Given the description of an element on the screen output the (x, y) to click on. 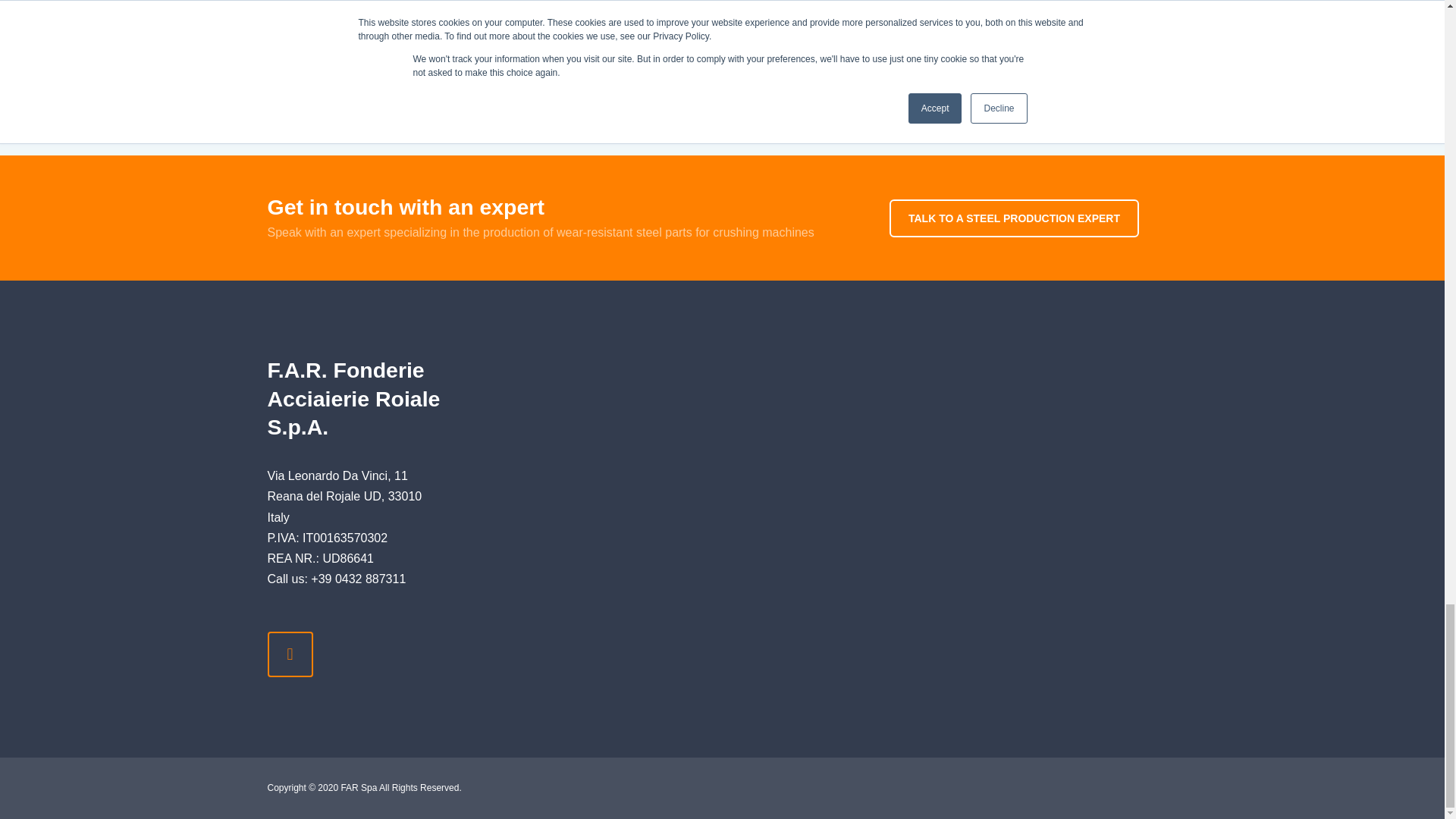
superbite (448, 8)
